Given the description of an element on the screen output the (x, y) to click on. 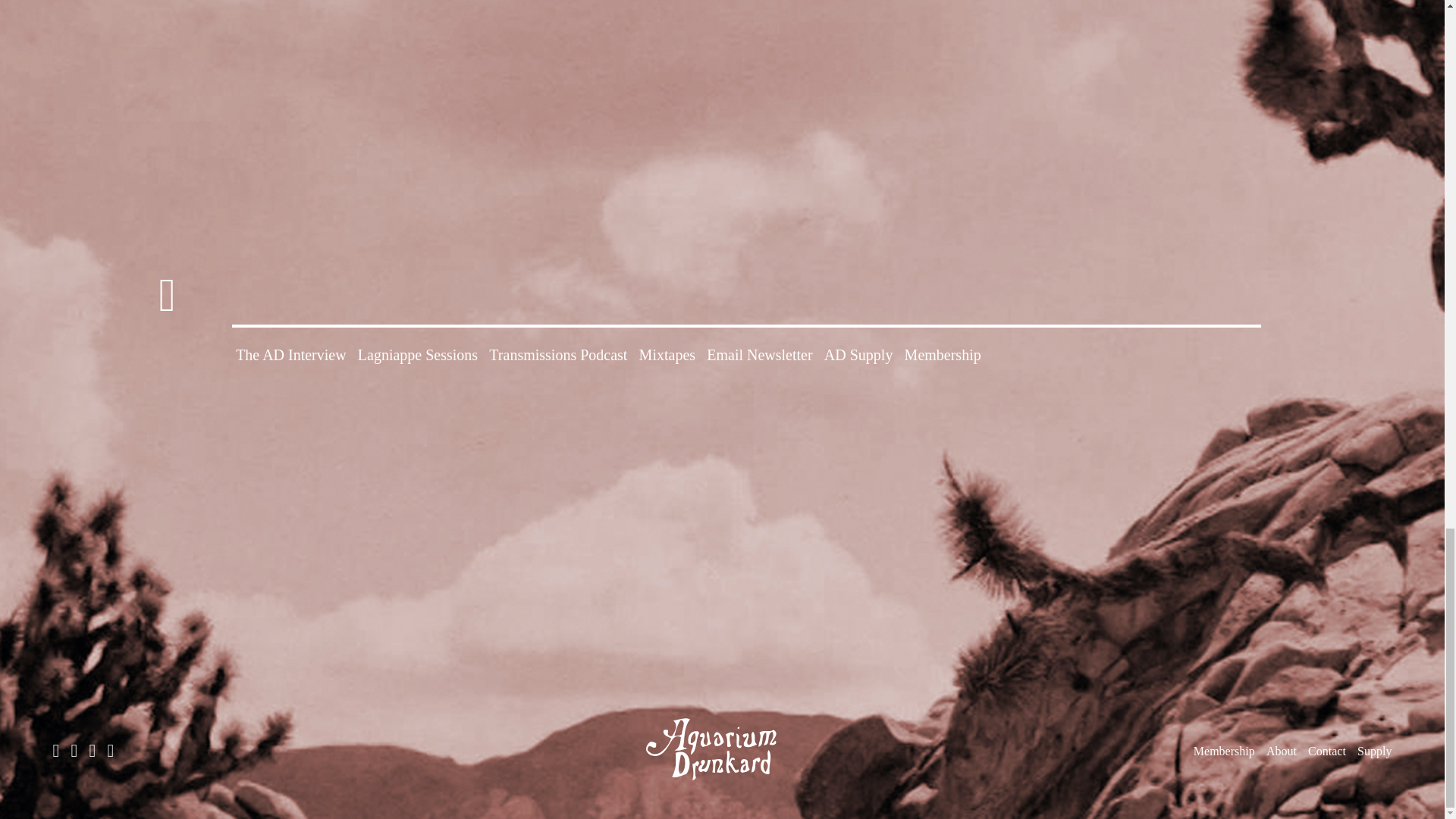
Aquarium Drunkard (721, 749)
Contact Aquarium Drunkard (1326, 751)
Membership (942, 354)
About Aquarium Drunkard (1281, 751)
Lagniappe Sessions (417, 354)
AD Supply (858, 354)
Transmissions Podcast (558, 354)
The AD Interview (290, 354)
Aquarium Drunkard Merch Shop (1373, 751)
Aquarium Drunkard (721, 784)
